Given the description of an element on the screen output the (x, y) to click on. 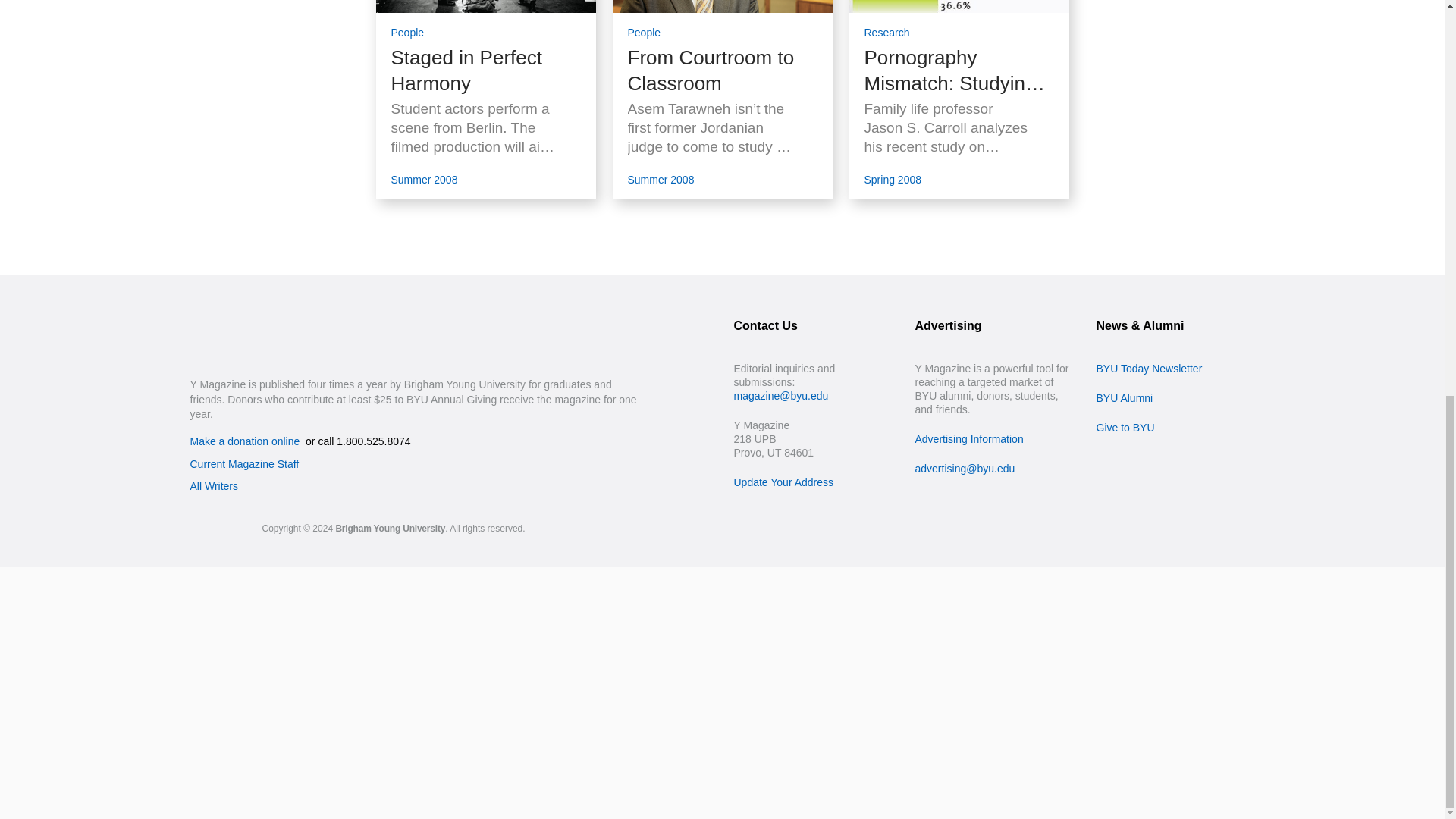
People (644, 29)
Update Your Address (783, 481)
Summer 2008 (660, 178)
People (408, 29)
Research (887, 29)
Make a donation online (244, 440)
All Writers (213, 485)
Summer 2008 (424, 178)
Spring 2008 (892, 178)
Current Magazine Staff (243, 463)
